Given the description of an element on the screen output the (x, y) to click on. 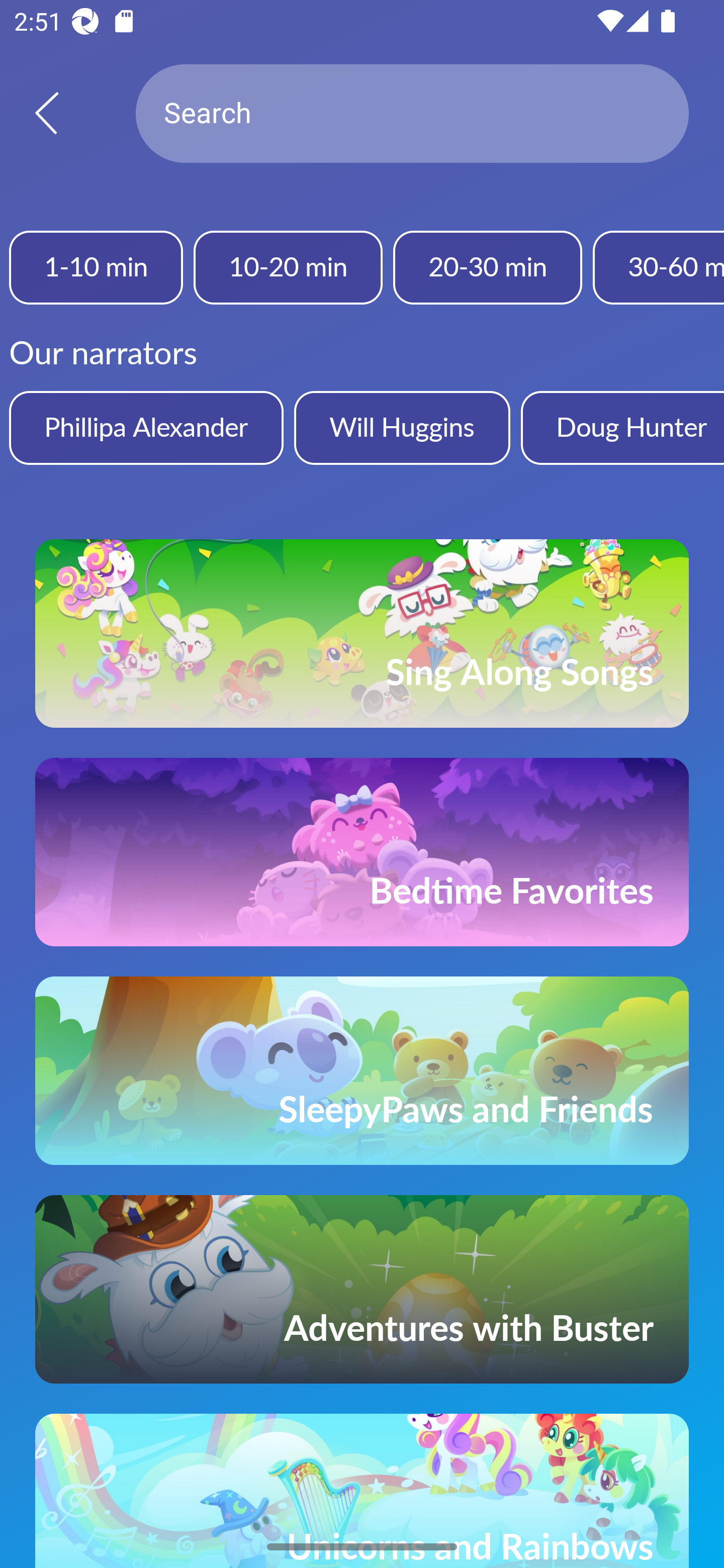
Search (412, 113)
1-10 min (95, 267)
10-20 min (287, 267)
20-30 min (487, 267)
30-60 min (658, 267)
Phillipa Alexander (145, 427)
Will Huggins (401, 427)
Doug Hunter (622, 427)
Sing Along Songs (361, 633)
Bedtime Favorites (361, 852)
SleepyPaws and Friends (361, 1070)
Adventures with Buster (361, 1288)
Unicorns and Rainbows (361, 1491)
